Given the description of an element on the screen output the (x, y) to click on. 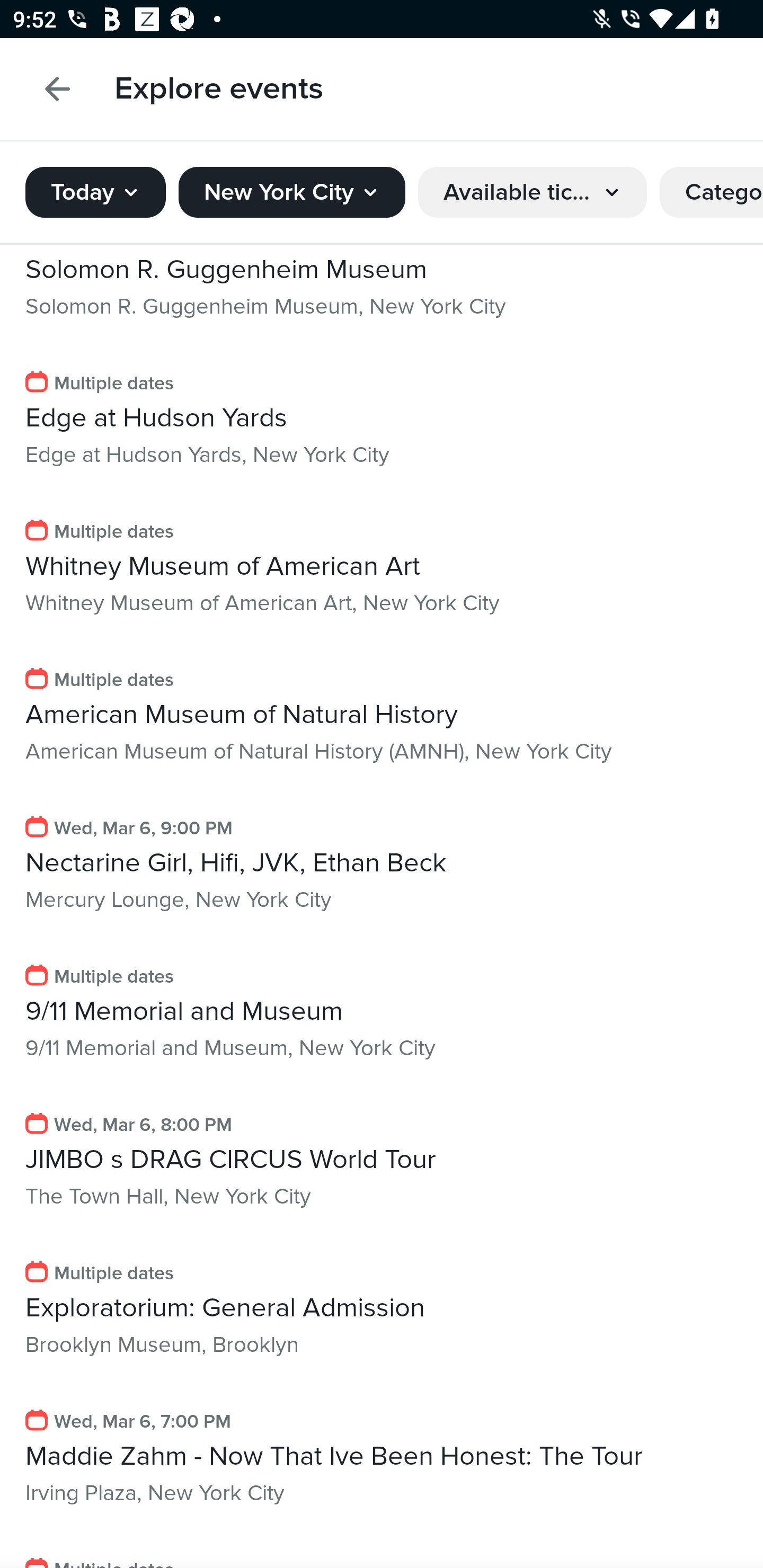
Today (95, 186)
New York City (291, 186)
Available tickets (532, 186)
